Given the description of an element on the screen output the (x, y) to click on. 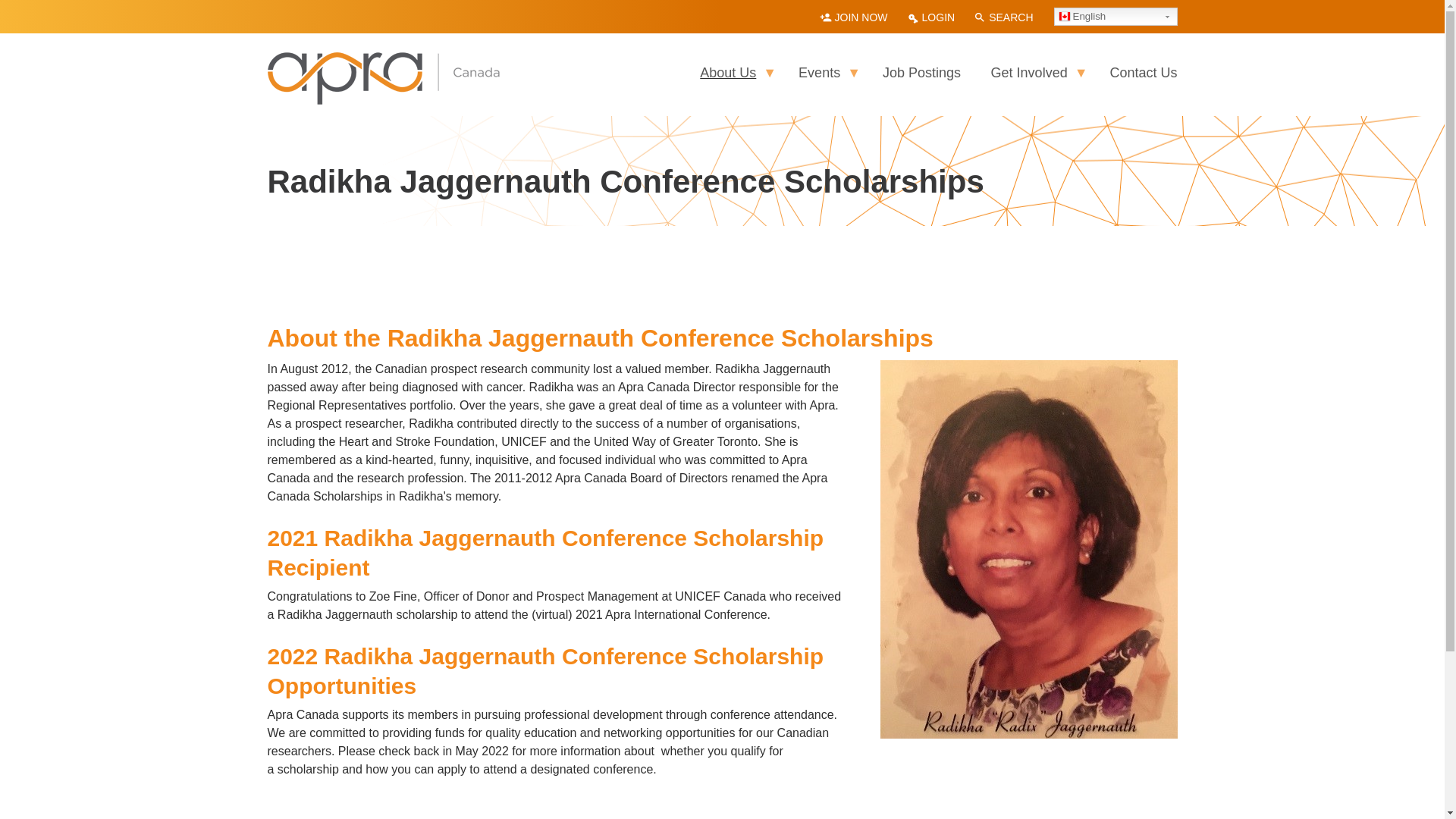
SEARCH Element type: text (1002, 18)
LOGIN Element type: text (930, 18)
Contact Us Element type: text (1136, 72)
JOIN NOW Element type: text (853, 18)
English Element type: text (1115, 16)
Job Postings Element type: text (921, 72)
Home Element type: hover (384, 60)
Skip to main navigation Element type: text (0, 0)
